Given the description of an element on the screen output the (x, y) to click on. 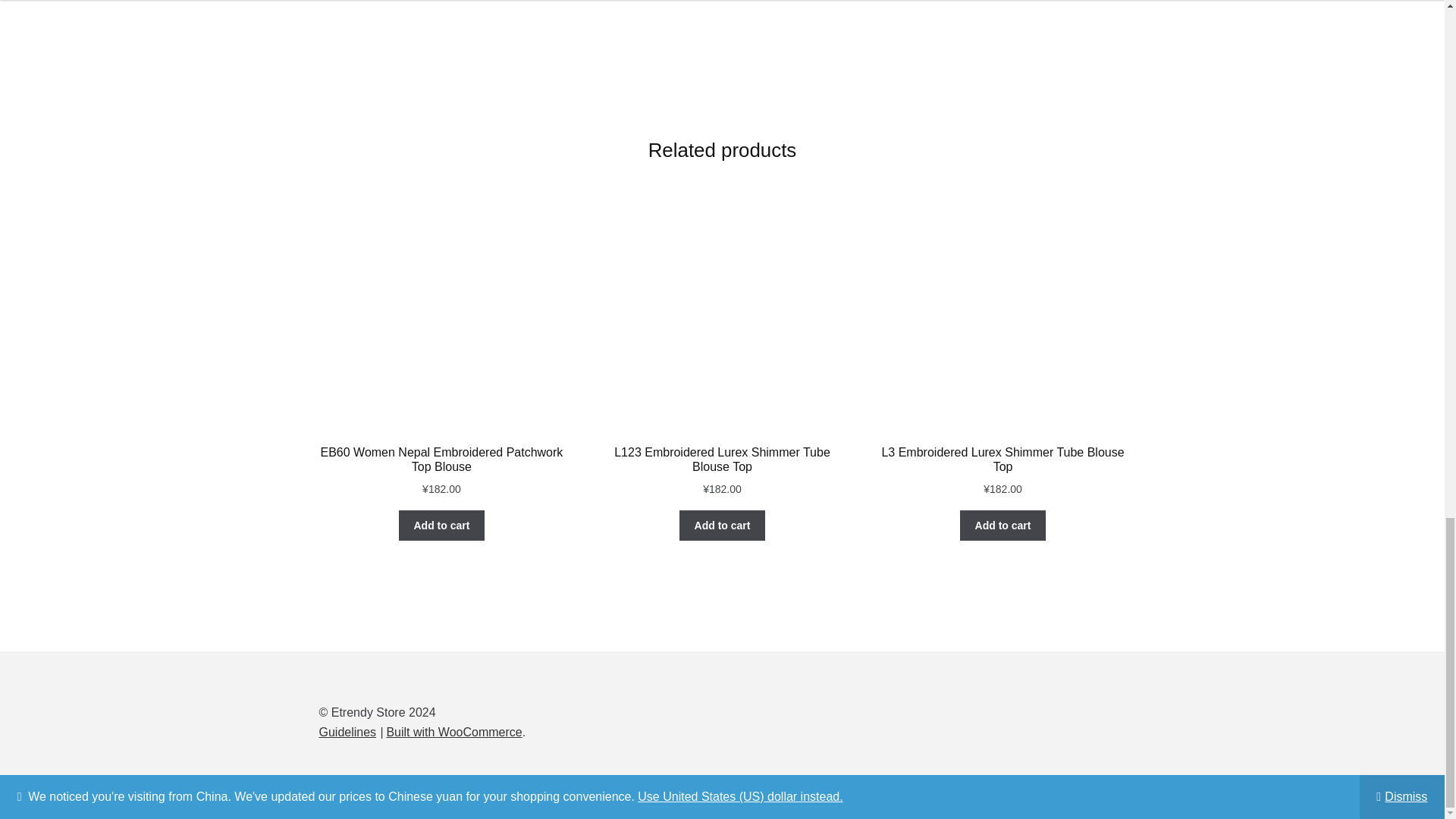
WooCommerce - The Best eCommerce Platform for WordPress (453, 731)
